Given the description of an element on the screen output the (x, y) to click on. 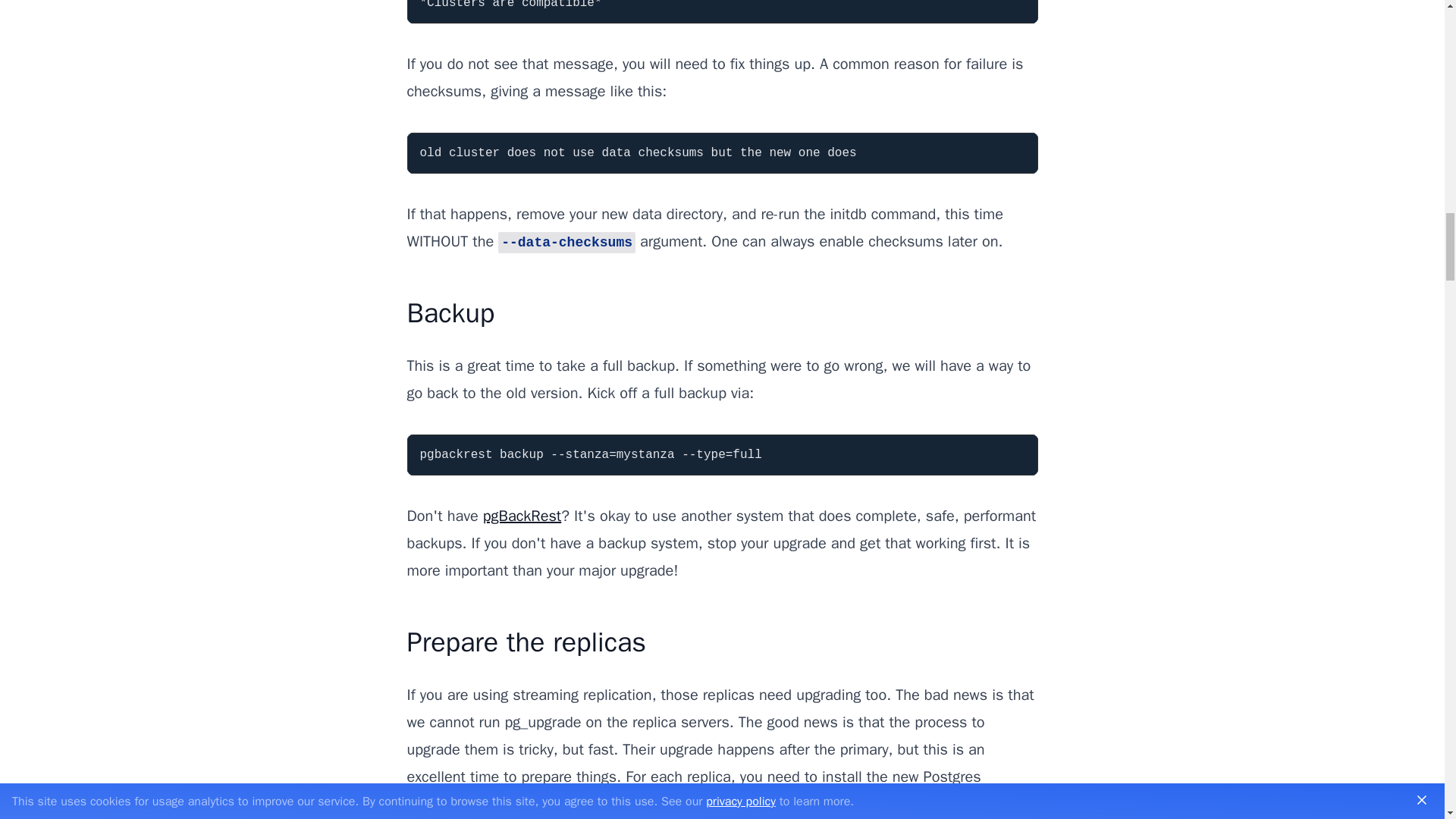
Backup (450, 312)
pgBackRest (521, 515)
Prepare the replicas (526, 642)
